Given the description of an element on the screen output the (x, y) to click on. 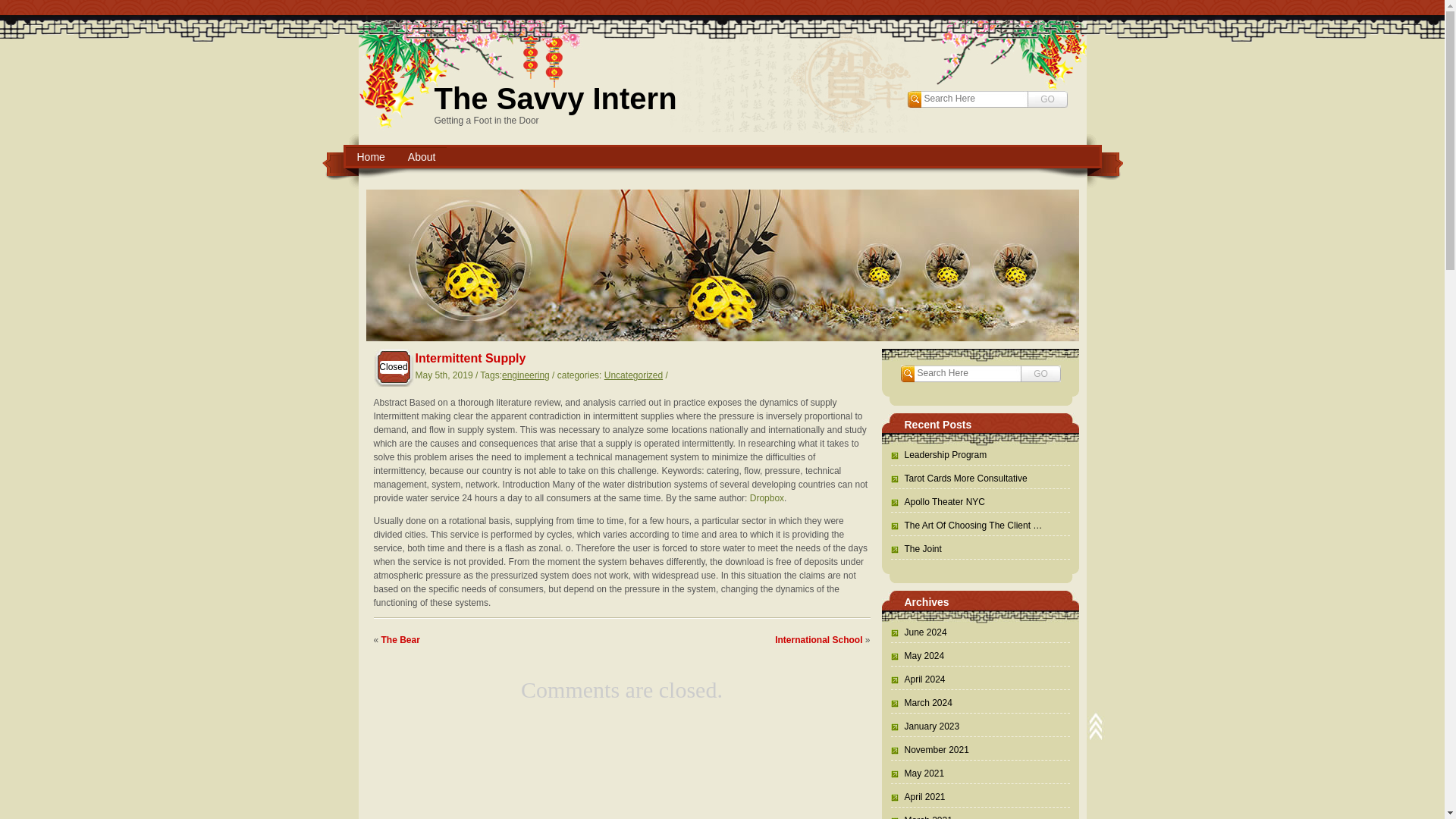
engineering (526, 375)
The Savvy Intern (555, 98)
The Joint (914, 548)
June 2024 (917, 632)
GO (1040, 373)
Home (371, 157)
April 2024 (916, 679)
Uncategorized (633, 375)
April 2021 (916, 796)
The Savvy Intern (555, 98)
